Given the description of an element on the screen output the (x, y) to click on. 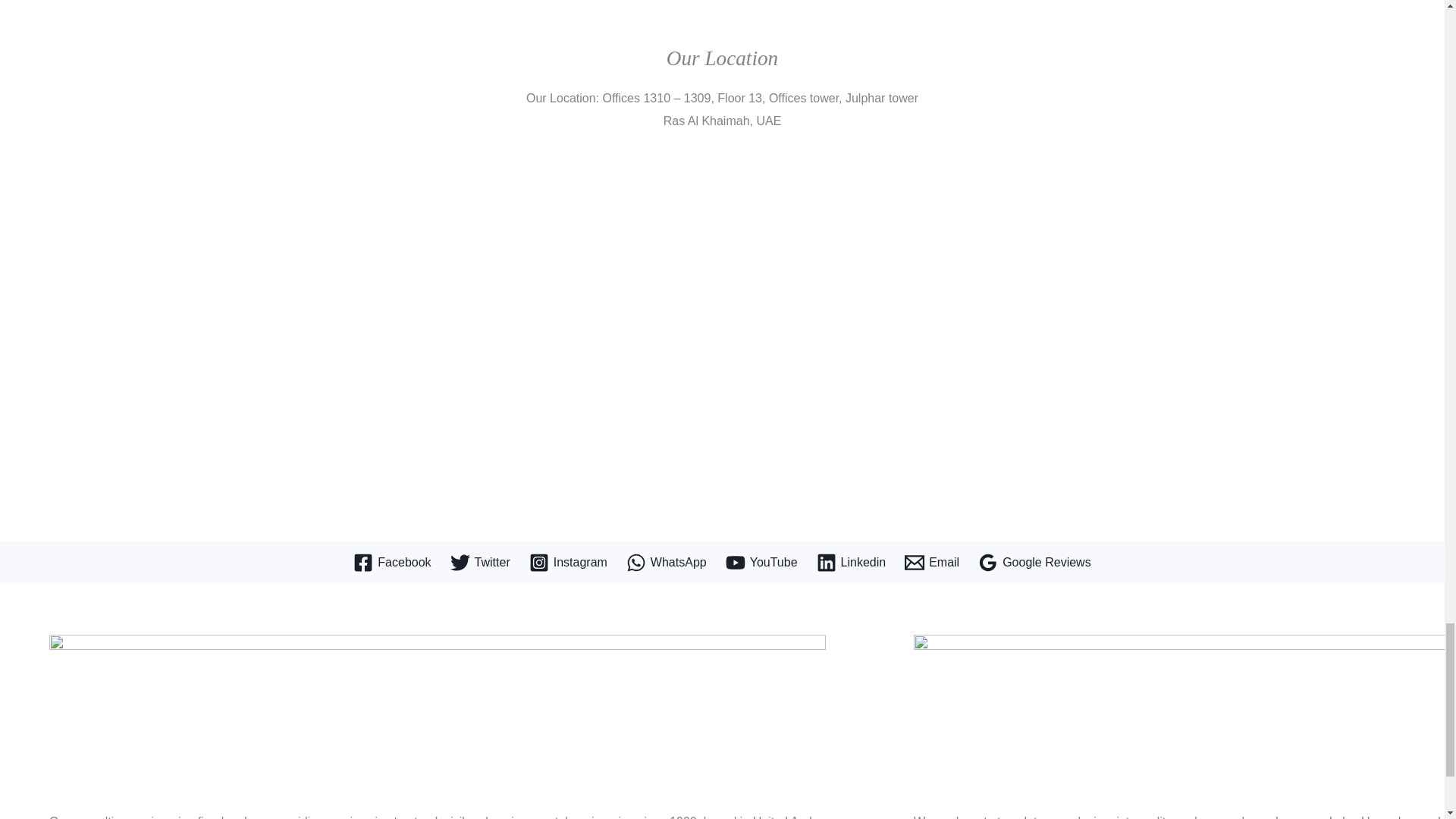
Email (931, 562)
WhatsApp (666, 562)
YouTube (761, 562)
Twitter (480, 562)
Linkedin (851, 562)
Google Reviews (1034, 562)
Facebook (391, 562)
Instagram (568, 562)
